Given the description of an element on the screen output the (x, y) to click on. 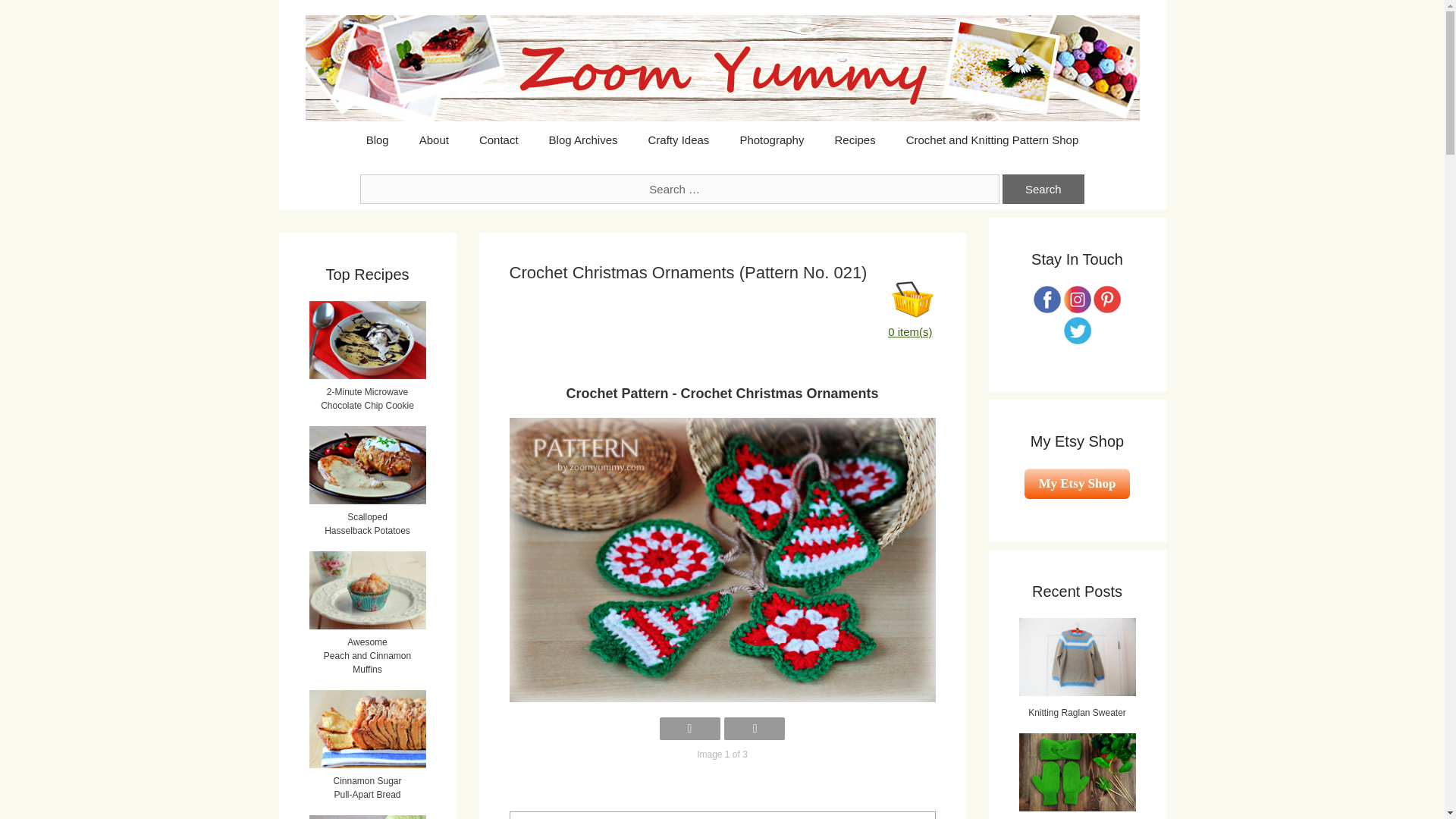
Crafty Ideas (677, 140)
Recipes (853, 140)
Blog (377, 140)
About (434, 140)
Search (1043, 188)
Blog Archives (583, 140)
Photography (770, 140)
Your Shopping Cart (912, 299)
Search (1043, 188)
